Given the description of an element on the screen output the (x, y) to click on. 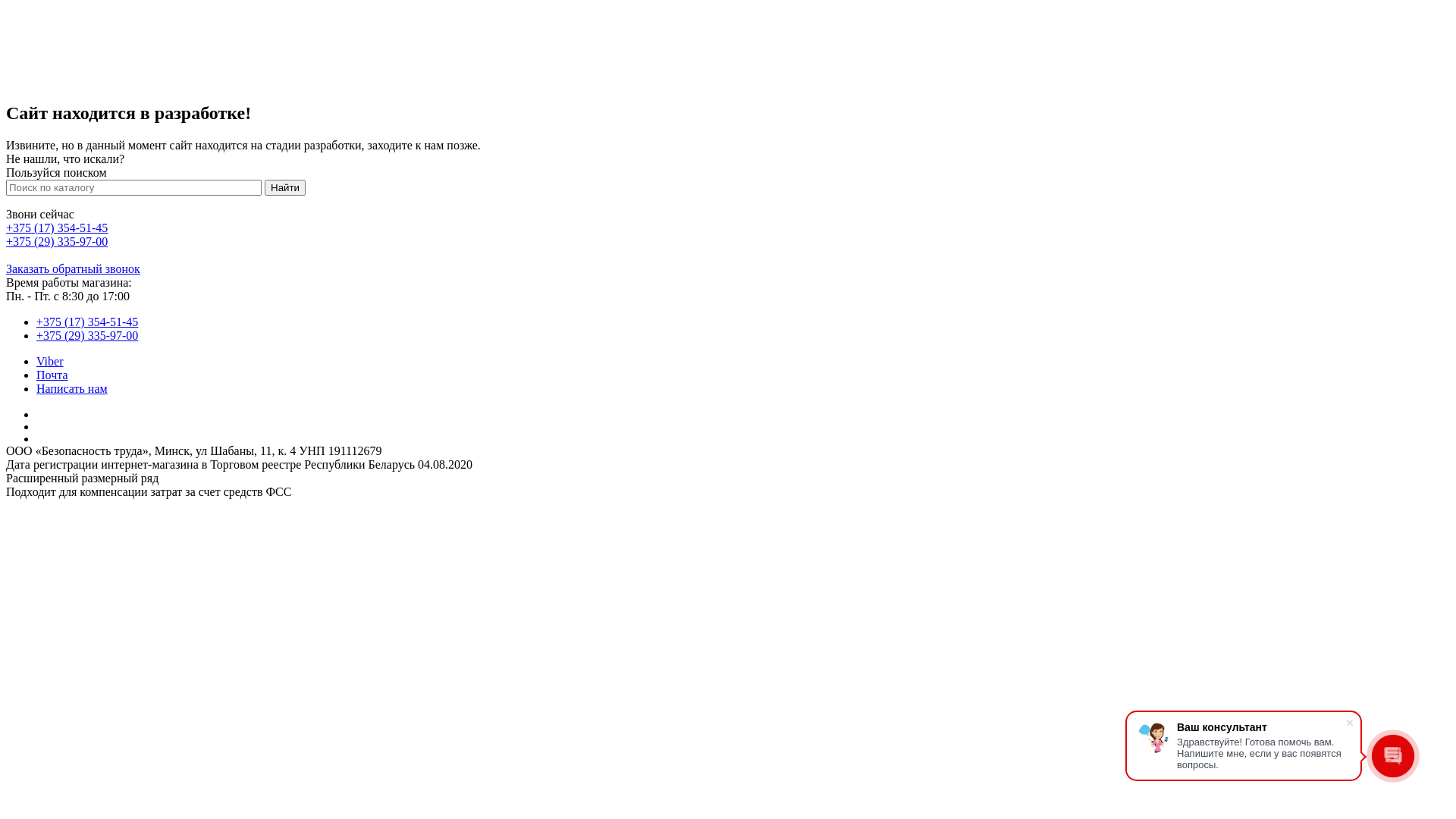
+375 (29) 335-97-00 Element type: text (56, 241)
Viber Element type: text (49, 360)
+375 (29) 335-97-00 Element type: text (87, 335)
+375 (17) 354-51-45 Element type: text (87, 321)
+375 (17) 354-51-45 Element type: text (56, 227)
